Given the description of an element on the screen output the (x, y) to click on. 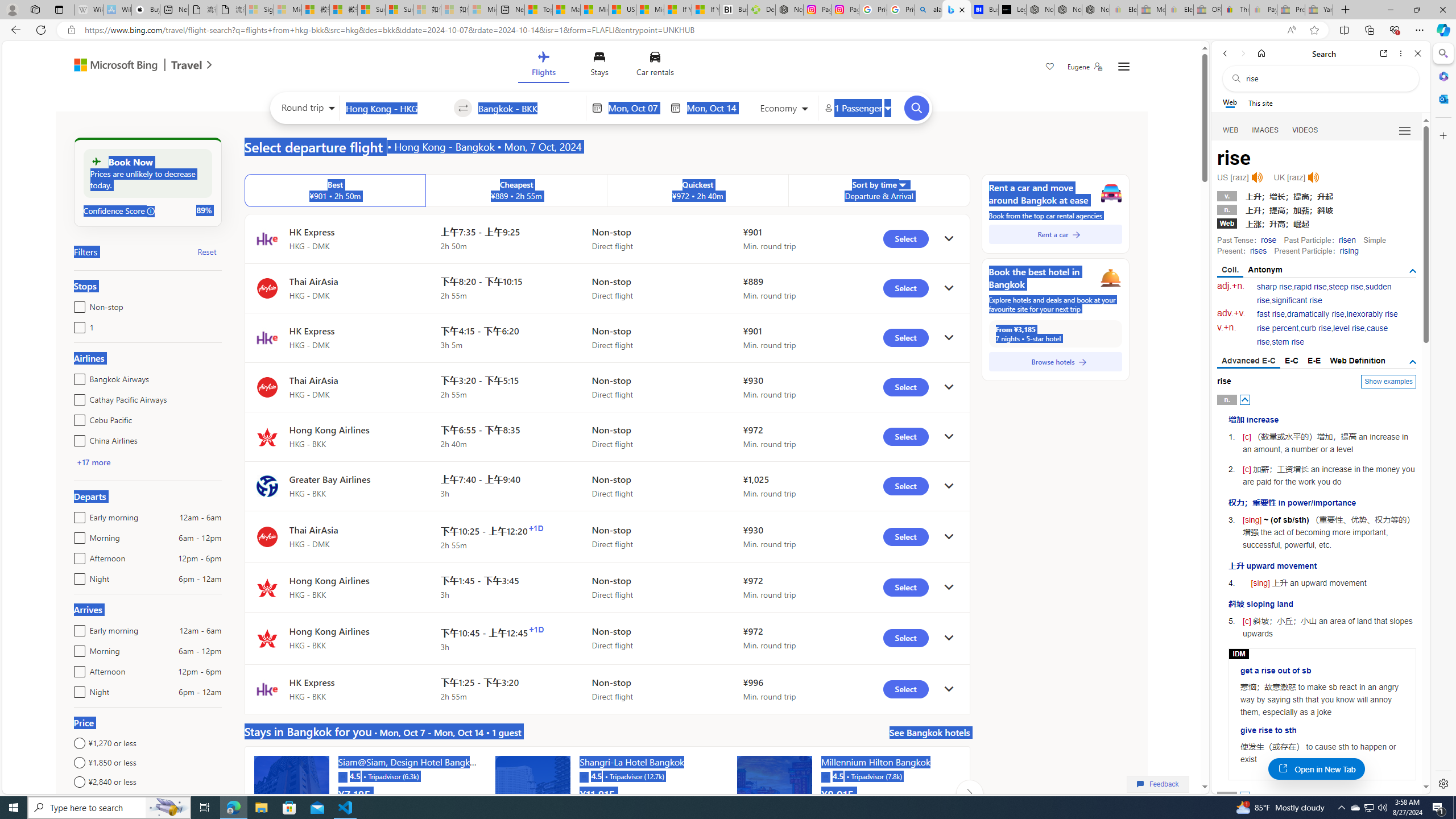
WEB (1231, 130)
risen (1347, 239)
VIDEOS (1304, 130)
curb rise (1315, 328)
End date (713, 107)
alabama high school quarterback dies - Search (928, 9)
Swap source and destination (463, 108)
AutomationID: tgdef (1412, 362)
Microsoft Bing (110, 65)
steep rise (1345, 286)
Early morning12am - 6am (76, 628)
